Given the description of an element on the screen output the (x, y) to click on. 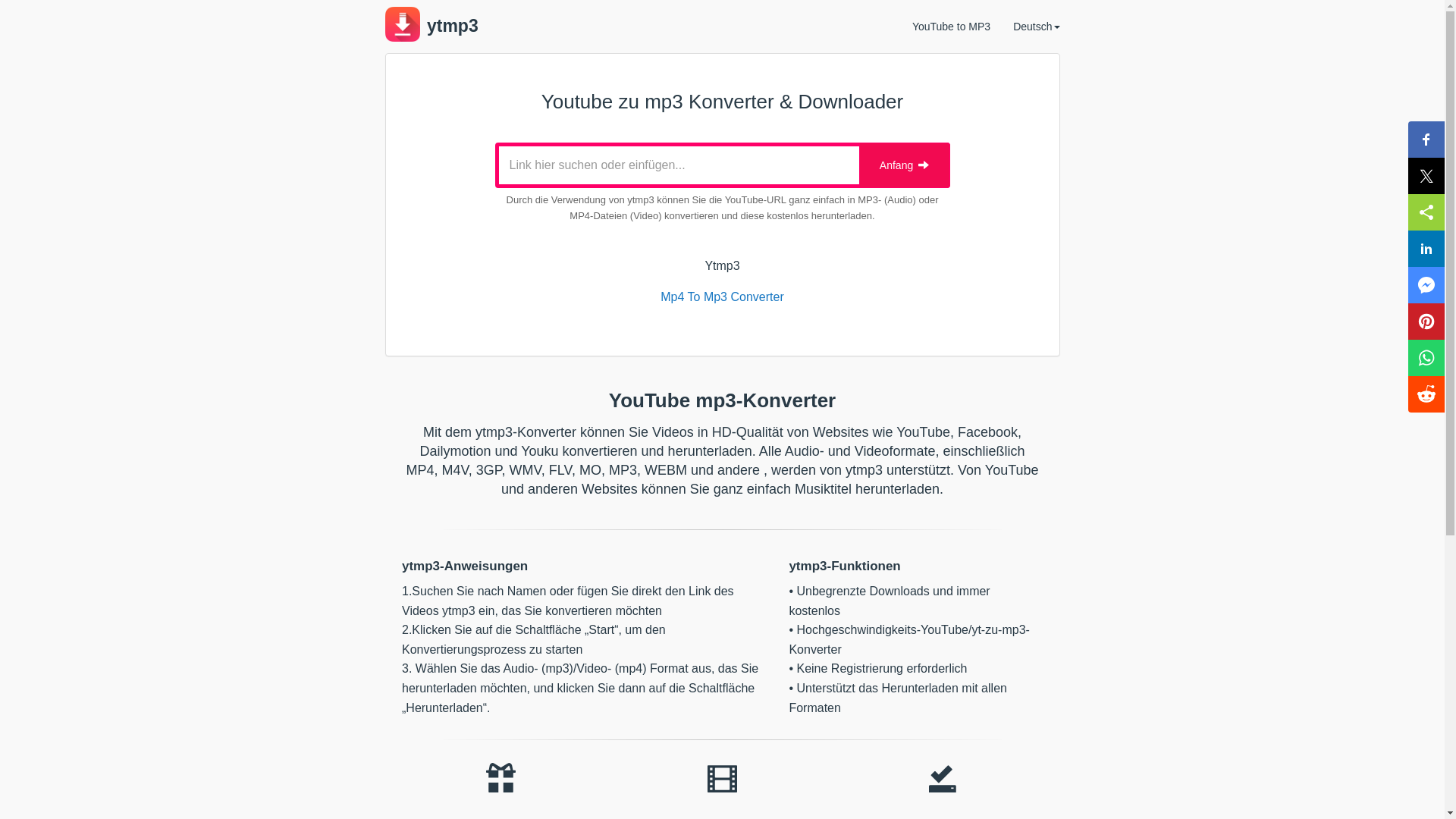
Anfang Element type: text (903, 165)
Mp4 To Mp3 Converter Element type: text (721, 296)
ytmp3 Element type: text (431, 27)
YouTube to MP3 Element type: text (950, 26)
Deutsch Element type: text (1035, 26)
ytmp3 Element type: hover (402, 23)
Ytmp3 Element type: text (721, 265)
